Given the description of an element on the screen output the (x, y) to click on. 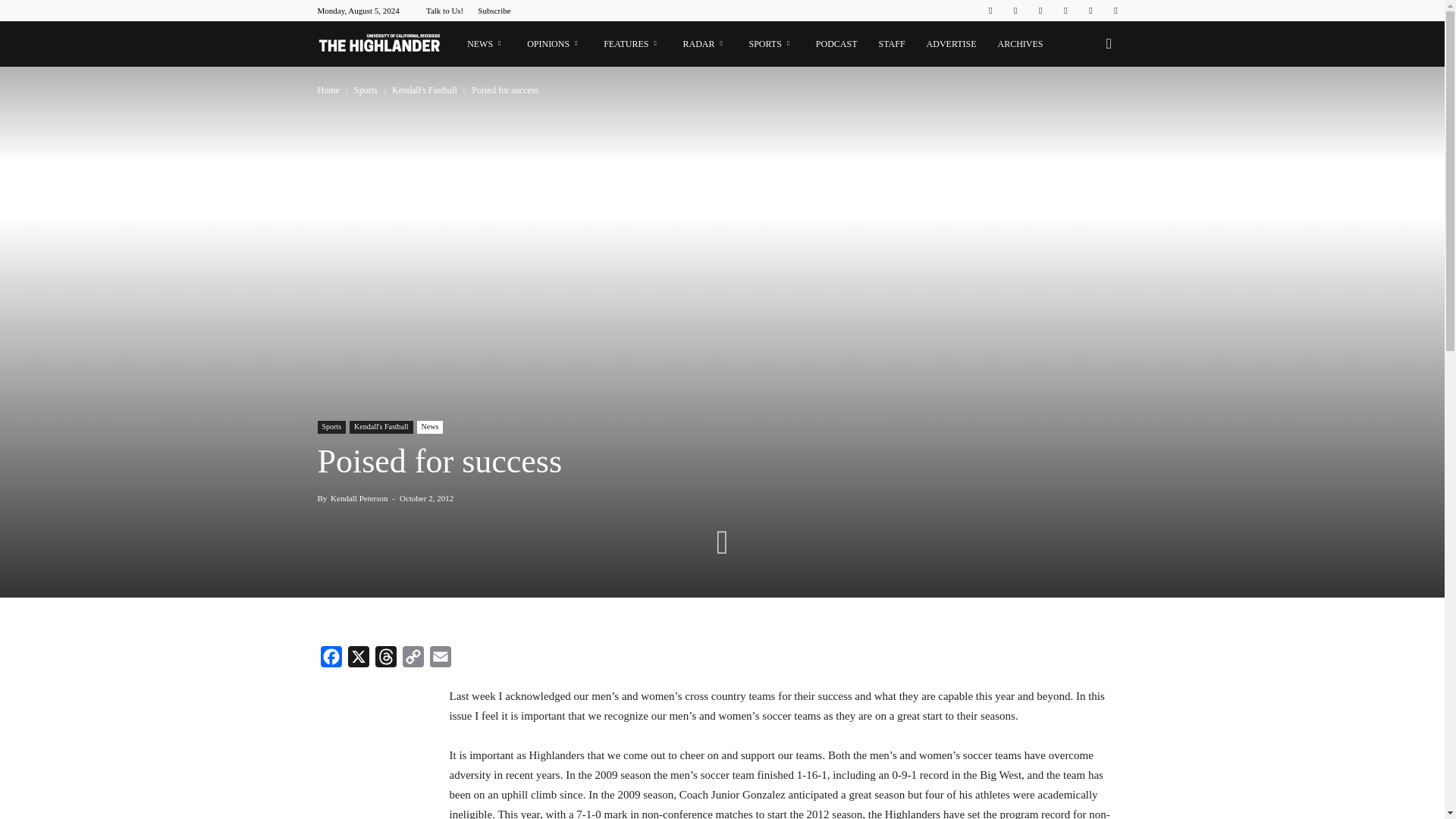
View all posts in Kendall's Fastball (425, 90)
Facebook (330, 660)
Facebook (989, 10)
Instagram (1015, 10)
View all posts in Sports (366, 90)
Linkedin (1040, 10)
Spotify (1065, 10)
Youtube (1114, 10)
Talk to Us! (444, 10)
Twitter (1090, 10)
